Given the description of an element on the screen output the (x, y) to click on. 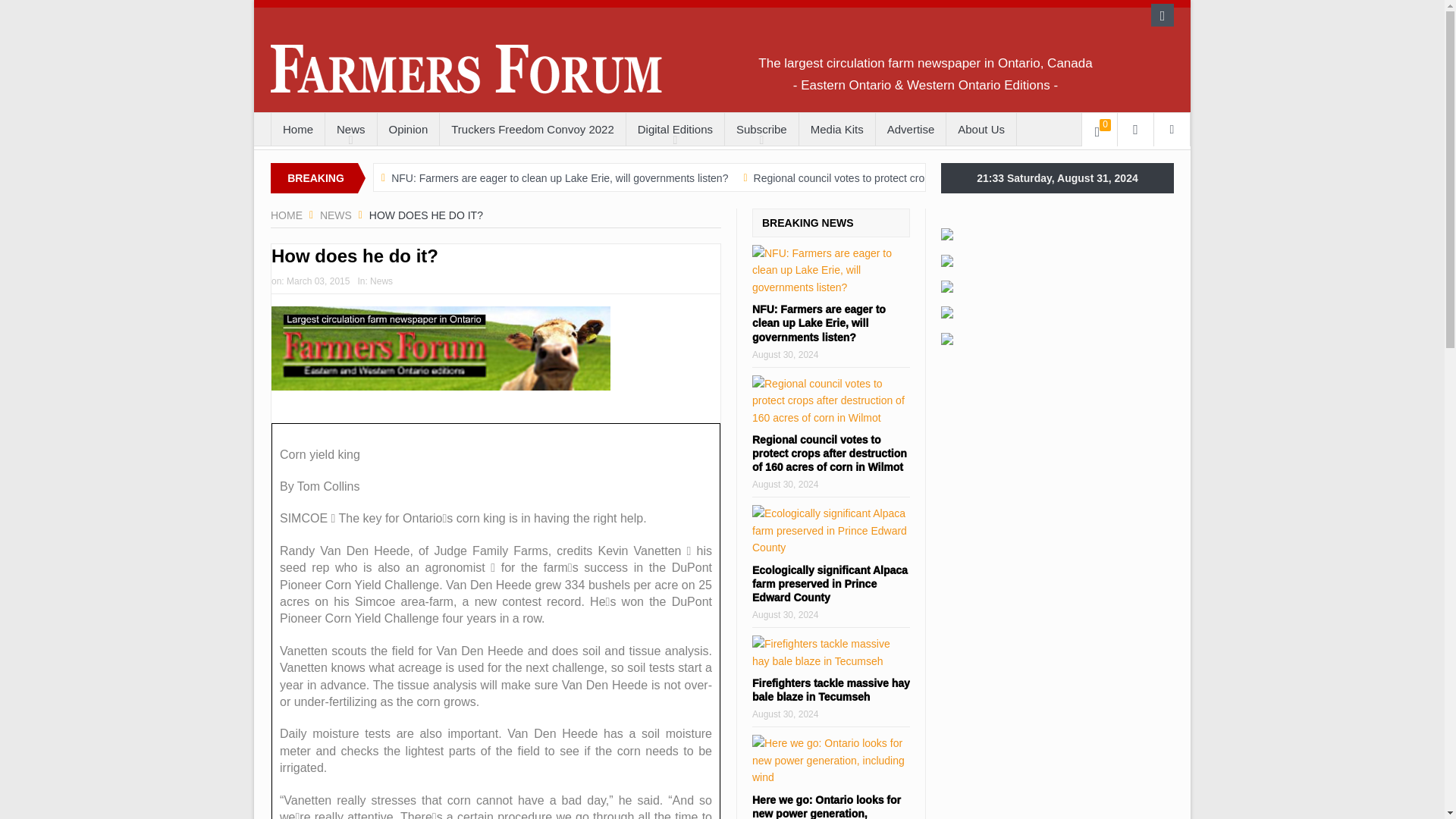
Truckers Freedom Convoy 2022 (532, 129)
Media Kits (837, 129)
Home (297, 129)
Advertise (911, 129)
Subscribe (761, 129)
About Us (981, 129)
0 (1099, 129)
News (336, 215)
Opinion (408, 129)
